Given the description of an element on the screen output the (x, y) to click on. 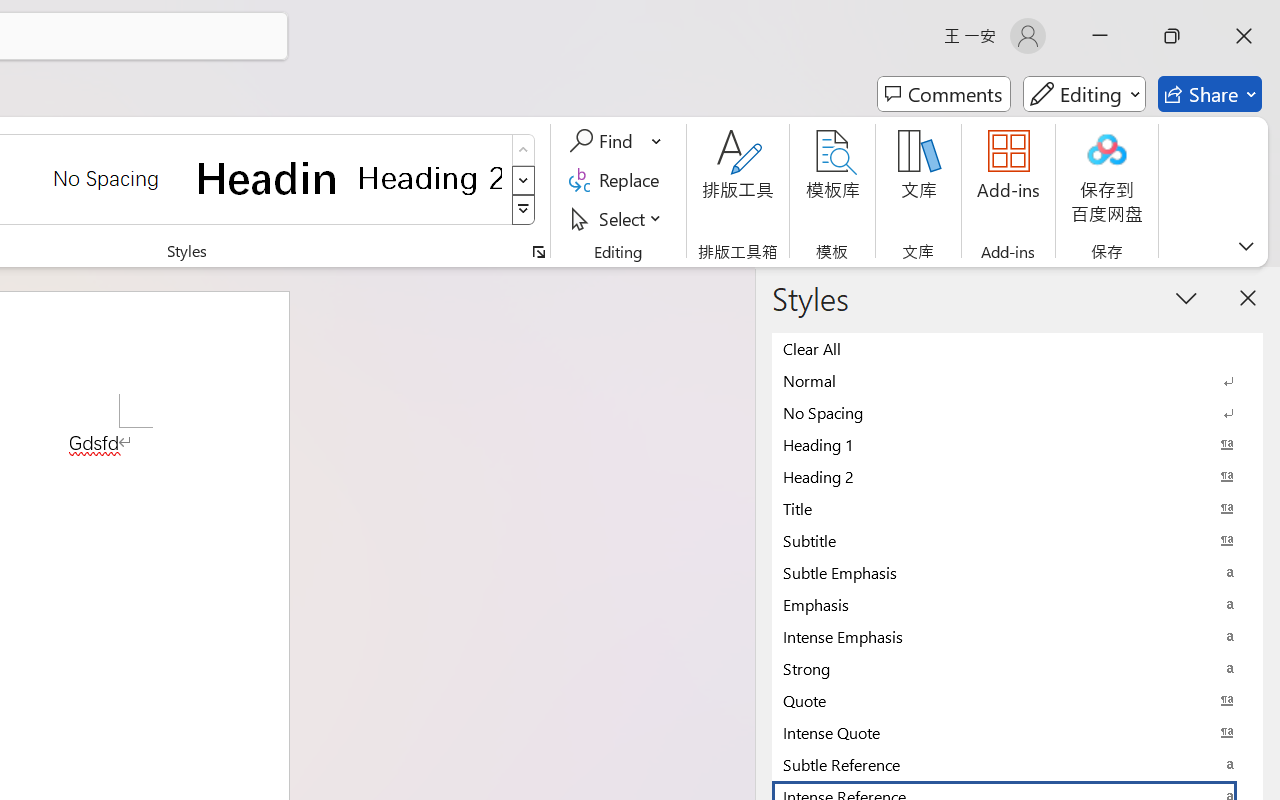
Intense Quote (1017, 732)
Heading 1 (267, 178)
Subtle Reference (1017, 764)
Clear All (1017, 348)
No Spacing (1017, 412)
Emphasis (1017, 604)
Task Pane Options (1186, 297)
